Given the description of an element on the screen output the (x, y) to click on. 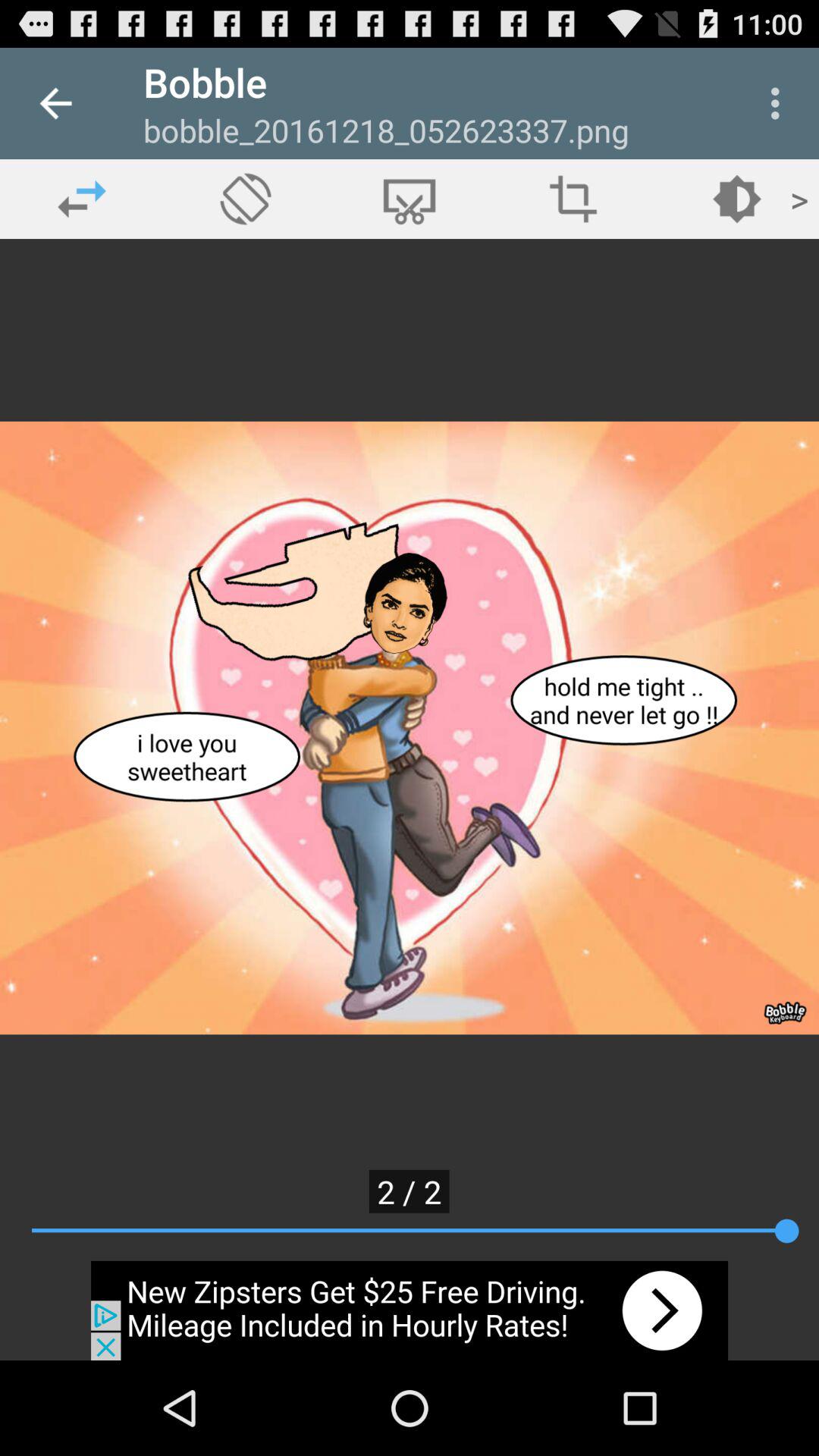
select a icon which is below more option on a page (737, 198)
select the option menu which is in the right corner of the screen (779, 103)
click on the cropping icon (573, 198)
